Given the description of an element on the screen output the (x, y) to click on. 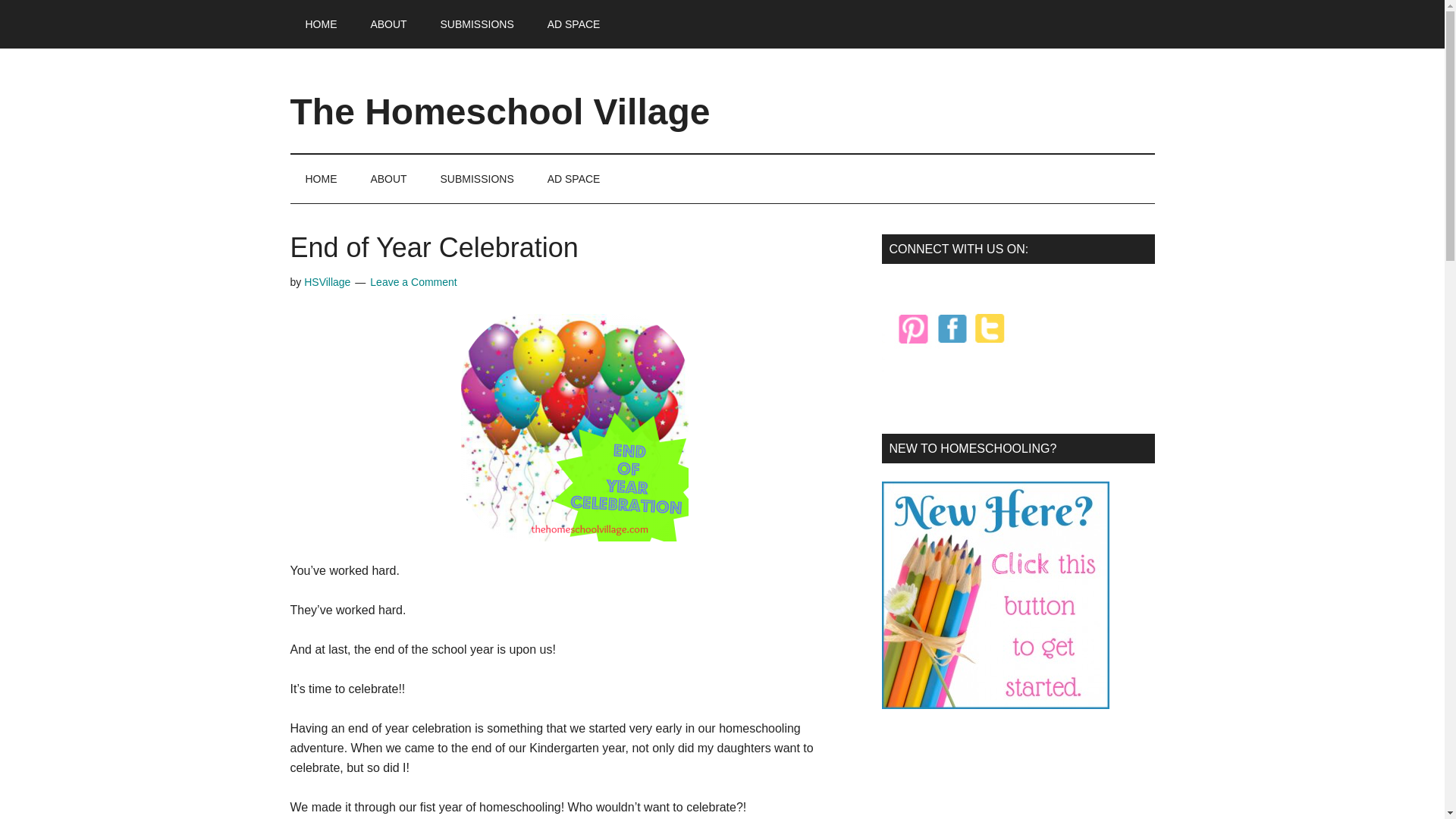
AD SPACE (573, 24)
ABOUT (388, 24)
The Homeschool Village (499, 111)
Leave a Comment (413, 282)
HOME (320, 178)
AD SPACE (573, 178)
HOME (320, 24)
SUBMISSIONS (477, 178)
ABOUT (388, 178)
SUBMISSIONS (477, 24)
HSVillage (327, 282)
